Given the description of an element on the screen output the (x, y) to click on. 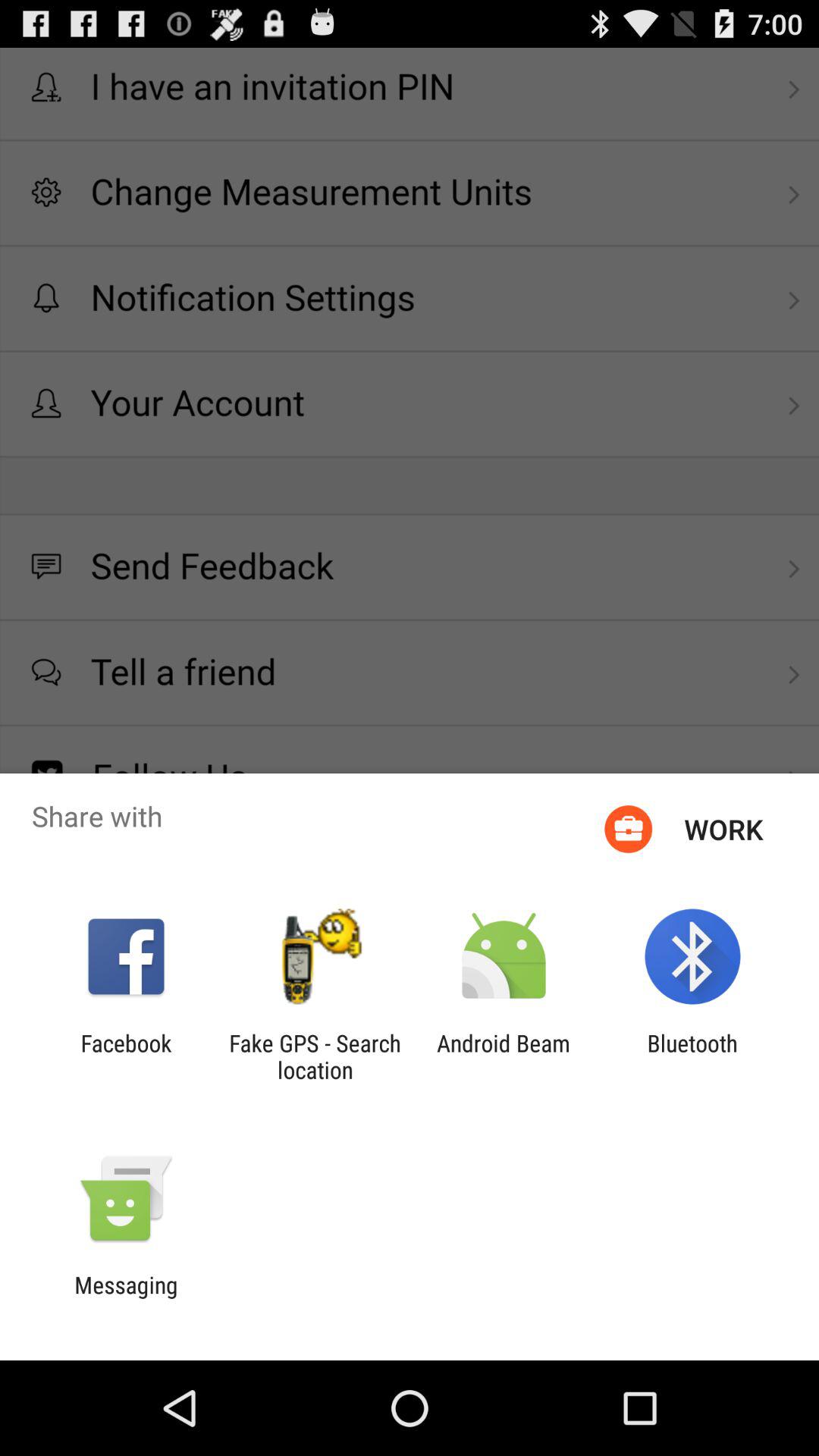
turn off app next to the android beam app (314, 1056)
